Given the description of an element on the screen output the (x, y) to click on. 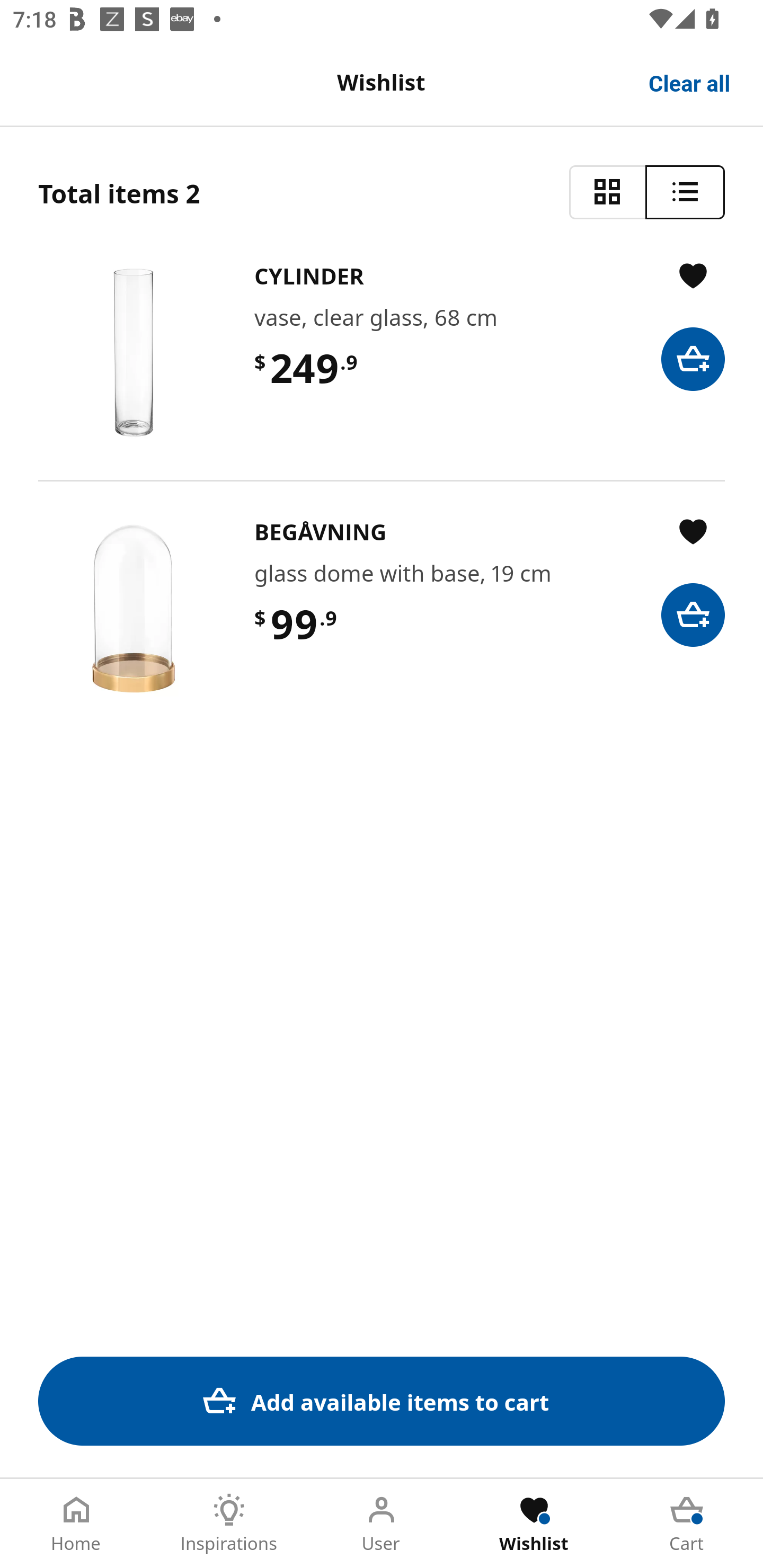
Clear all (689, 81)
Add available items to cart (381, 1400)
Home
Tab 1 of 5 (76, 1522)
Inspirations
Tab 2 of 5 (228, 1522)
User
Tab 3 of 5 (381, 1522)
Wishlist
Tab 4 of 5 (533, 1522)
Cart
Tab 5 of 5 (686, 1522)
